Given the description of an element on the screen output the (x, y) to click on. 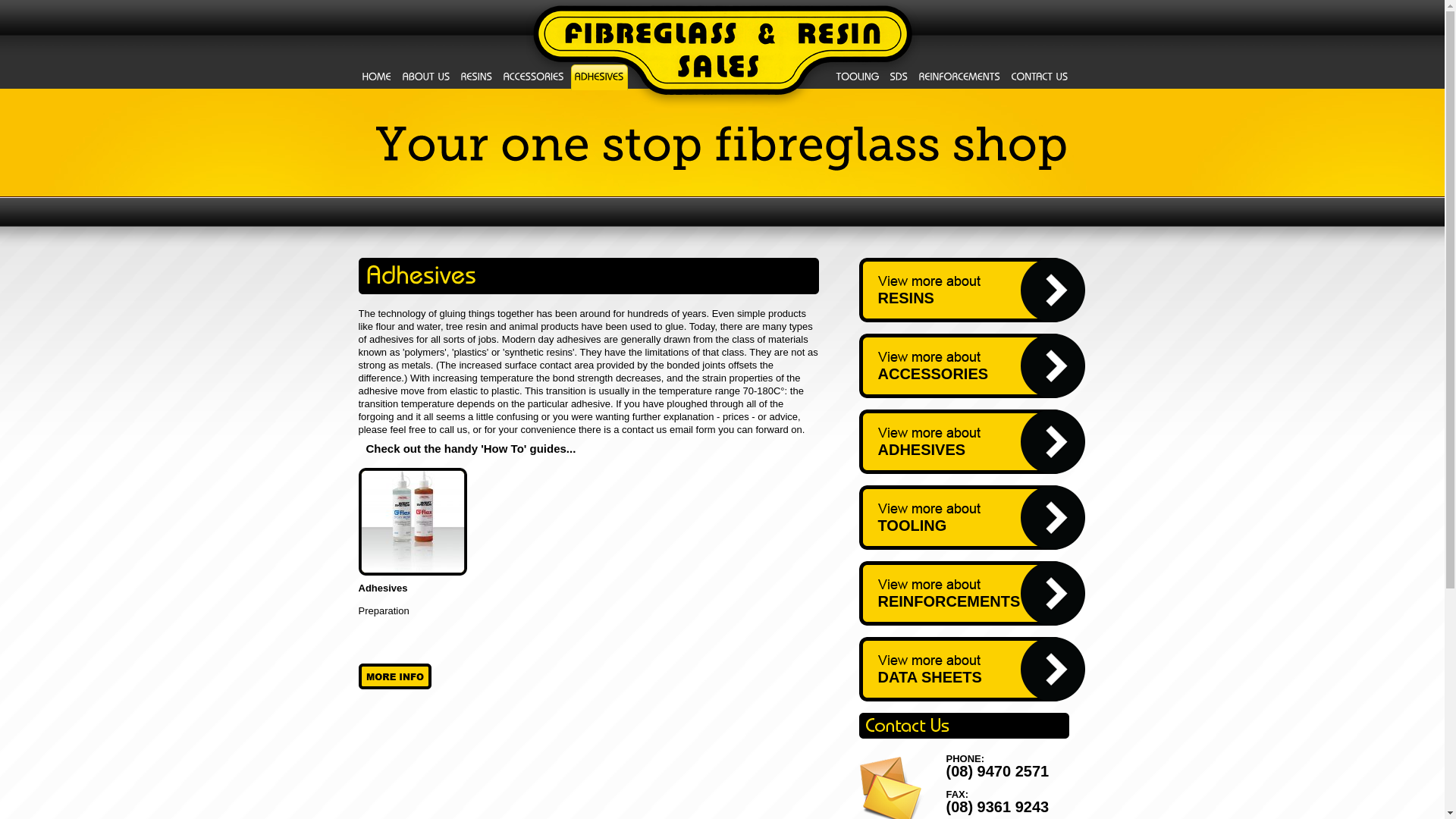
TOOLING Element type: text (971, 517)
Check out the handy 'How To' guides... Element type: text (470, 447)
Adhesives Element type: text (382, 587)
REINFORCEMENTS Element type: text (971, 593)
Fibreglass & Resin Sales PTY LTD - Element type: text (721, 54)
DATA SHEETS Element type: text (971, 669)
RESINS Element type: text (971, 289)
ADHESIVES Element type: text (971, 441)
ACCESSORIES Element type: text (971, 365)
